Given the description of an element on the screen output the (x, y) to click on. 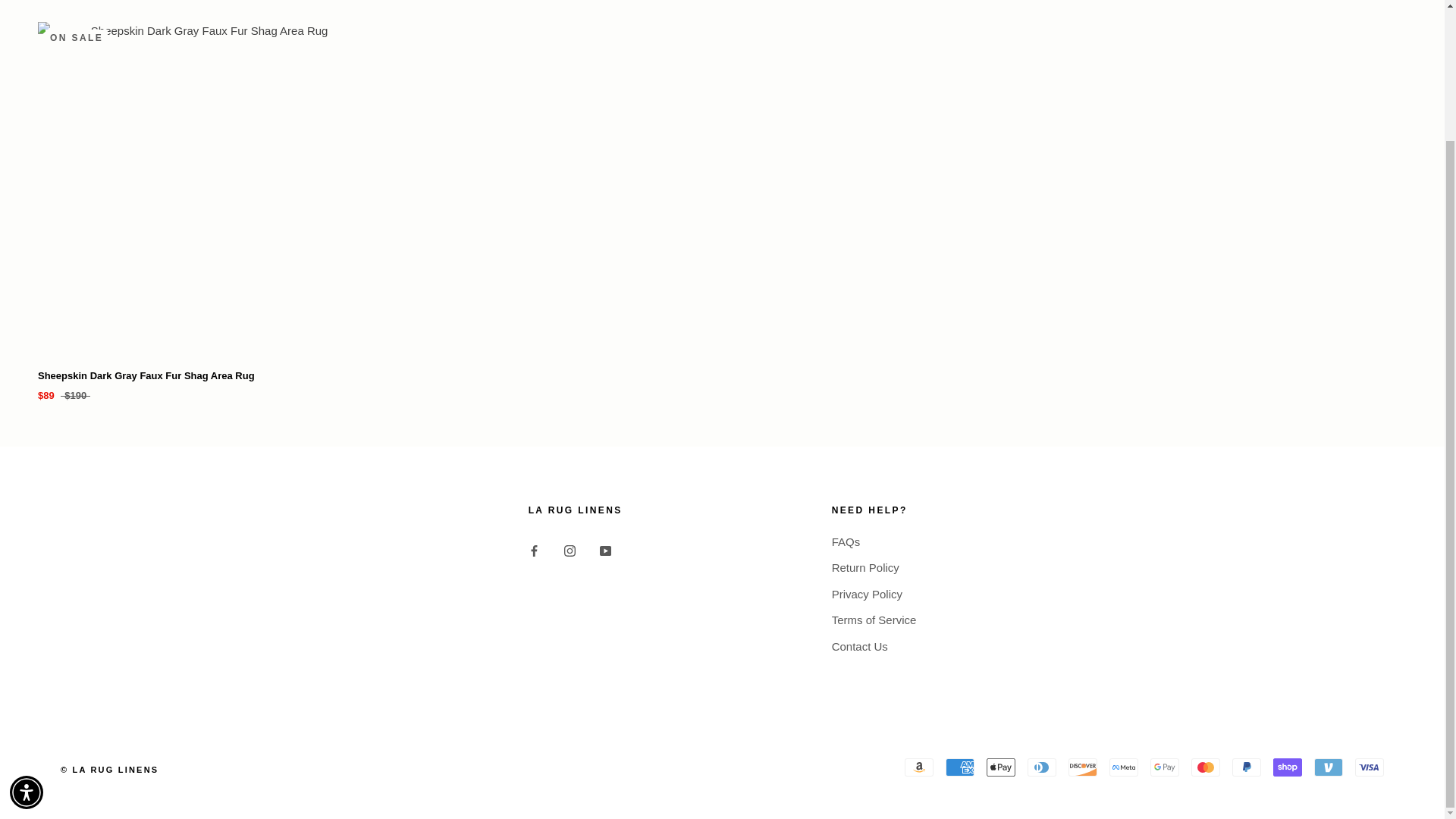
Shop Pay (1286, 767)
Accessibility Menu (26, 633)
Meta Pay (1123, 767)
PayPal (1245, 767)
Venmo (1328, 767)
Mastercard (1205, 767)
Apple Pay (1000, 767)
Google Pay (1164, 767)
Visa (1369, 767)
Amazon (918, 767)
American Express (959, 767)
Discover (1082, 767)
Diners Club (1042, 767)
